Given the description of an element on the screen output the (x, y) to click on. 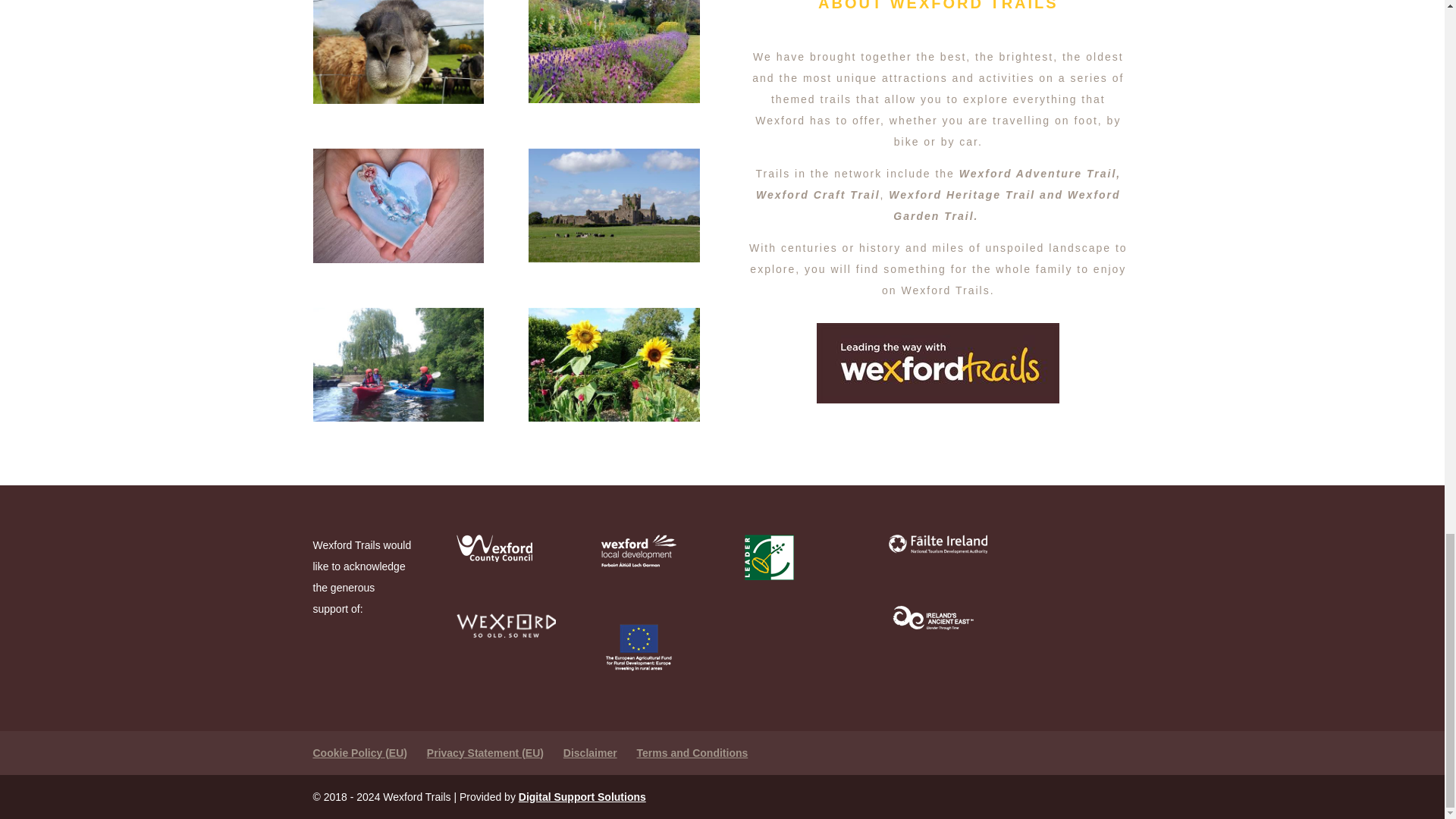
Mairead Stafford 2021 7 (398, 205)
Dunbrody Abbey (613, 205)
Blackwater Open Farm 2 (398, 52)
Slaney RiverTour with GoPaddle. ie (398, 364)
